Given the description of an element on the screen output the (x, y) to click on. 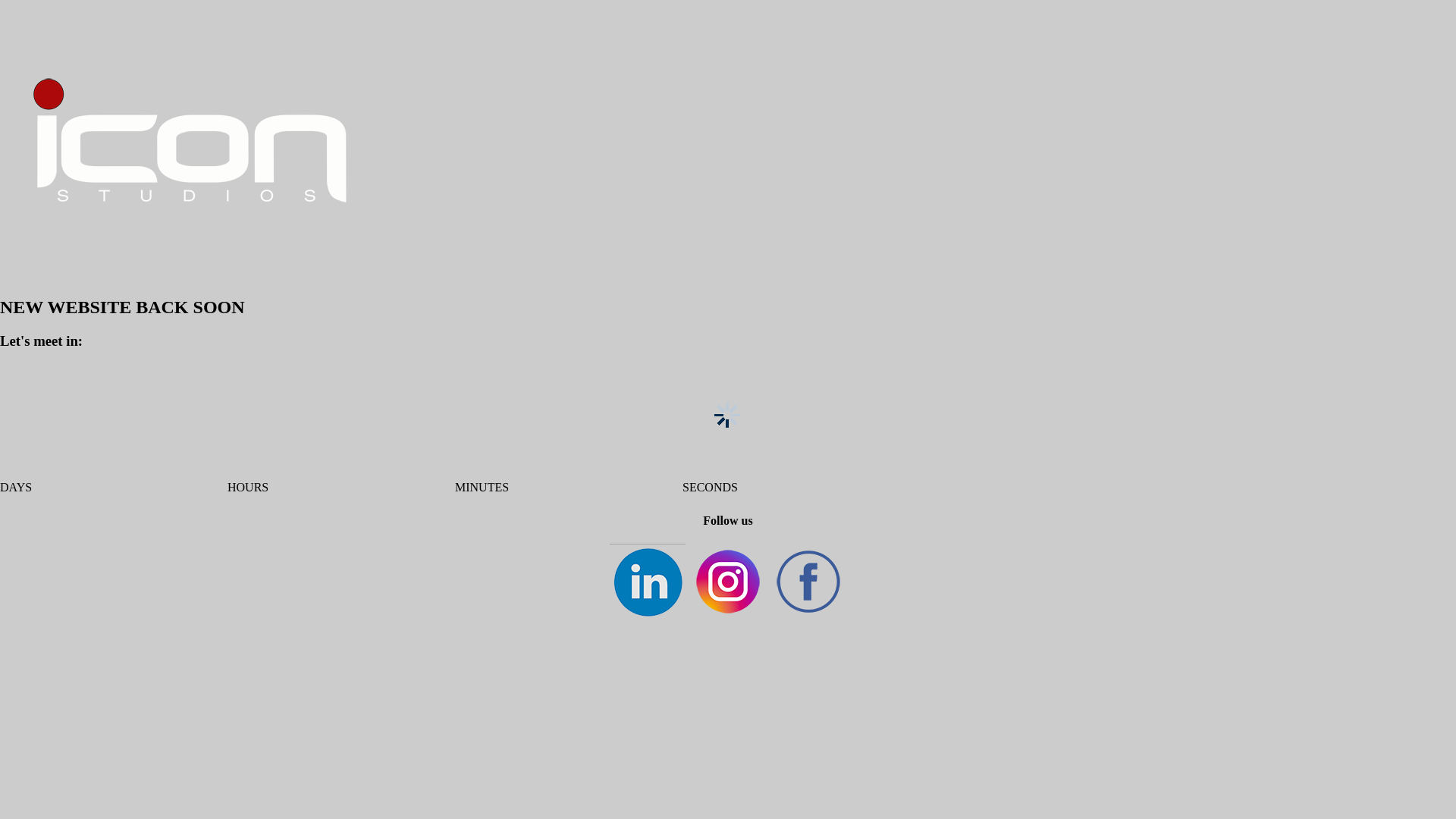
Facebook/Iconstudios Element type: hover (808, 581)
Instagram Element type: hover (727, 581)
linkedin Element type: hover (647, 581)
